Given the description of an element on the screen output the (x, y) to click on. 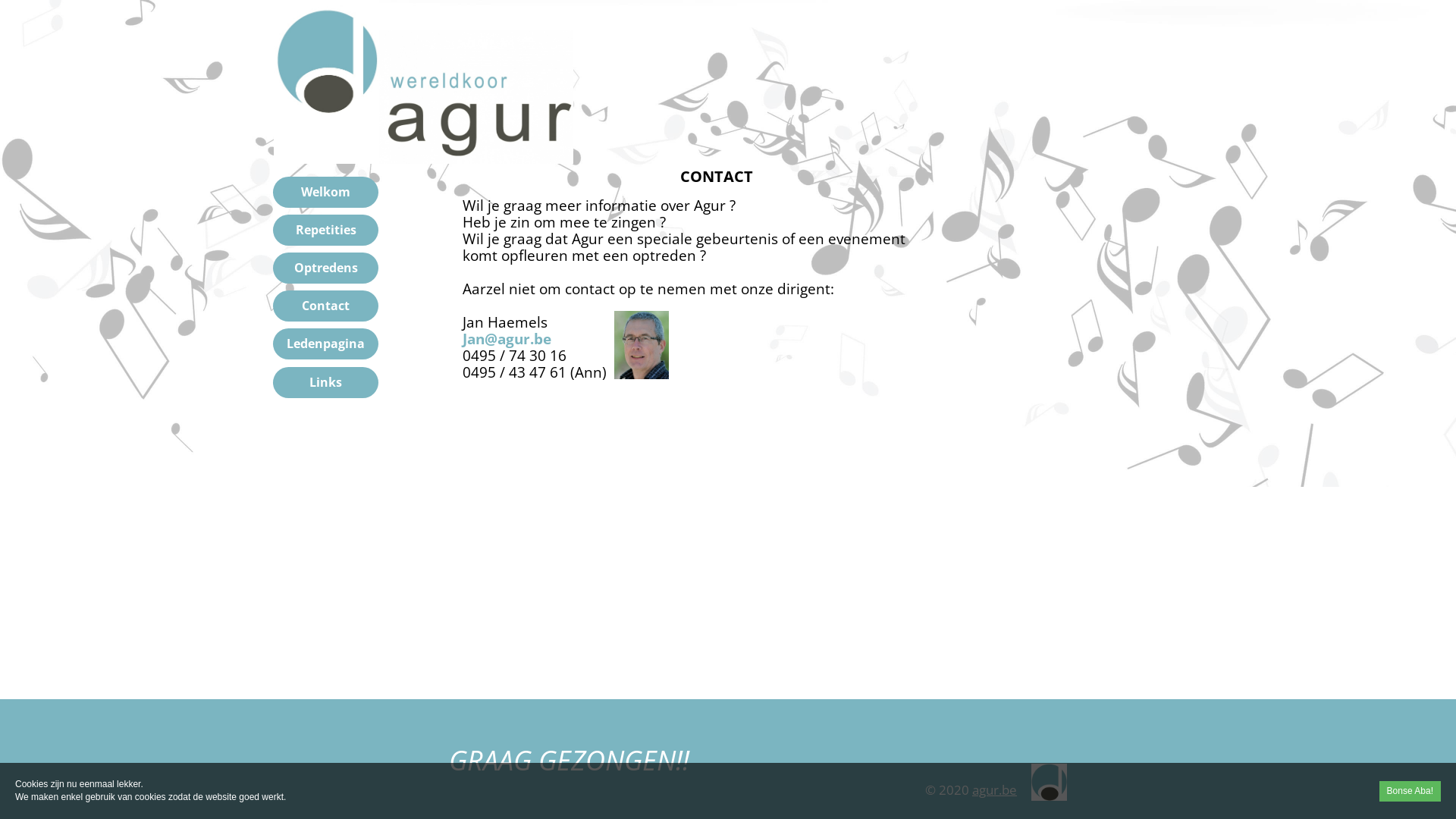
Welkom Element type: text (325, 191)
agur.be Element type: text (994, 789)
Contact Element type: text (325, 305)
Bonse Aba! Element type: text (1409, 791)
Jan@agur.be Element type: text (506, 338)
Repetities Element type: text (325, 229)
Ledenpagina Element type: text (325, 343)
0495 / 74 30 16 Element type: text (514, 355)
Optredens Element type: text (325, 267)
Links Element type: text (325, 382)
